Given the description of an element on the screen output the (x, y) to click on. 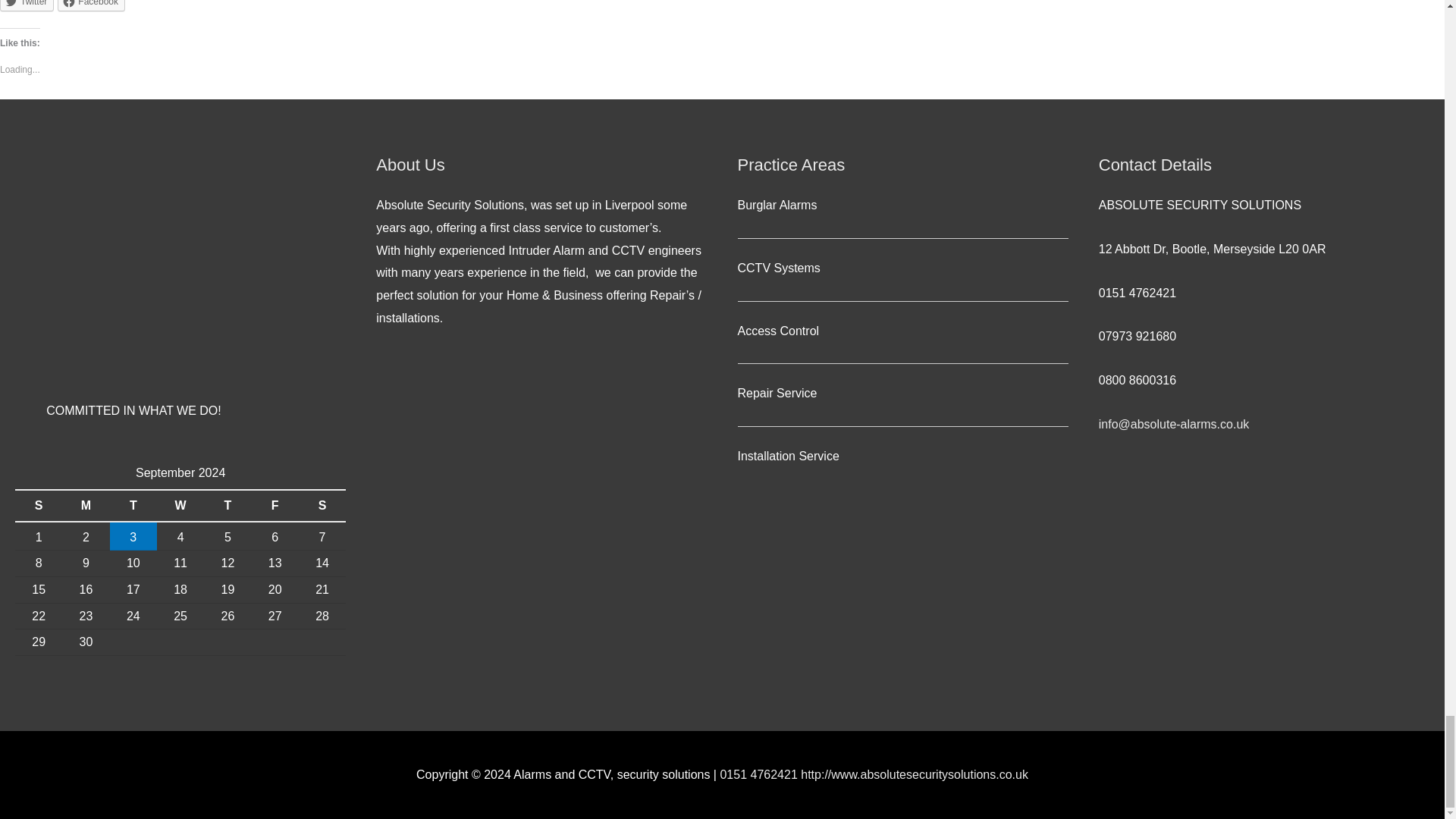
Tuesday (133, 505)
Monday (85, 505)
Facebook (91, 5)
Twitter (26, 5)
Thursday (226, 505)
Friday (274, 505)
Click to share on Twitter (26, 5)
Click to share on Facebook (91, 5)
Saturday (322, 505)
Wednesday (180, 505)
